Given the description of an element on the screen output the (x, y) to click on. 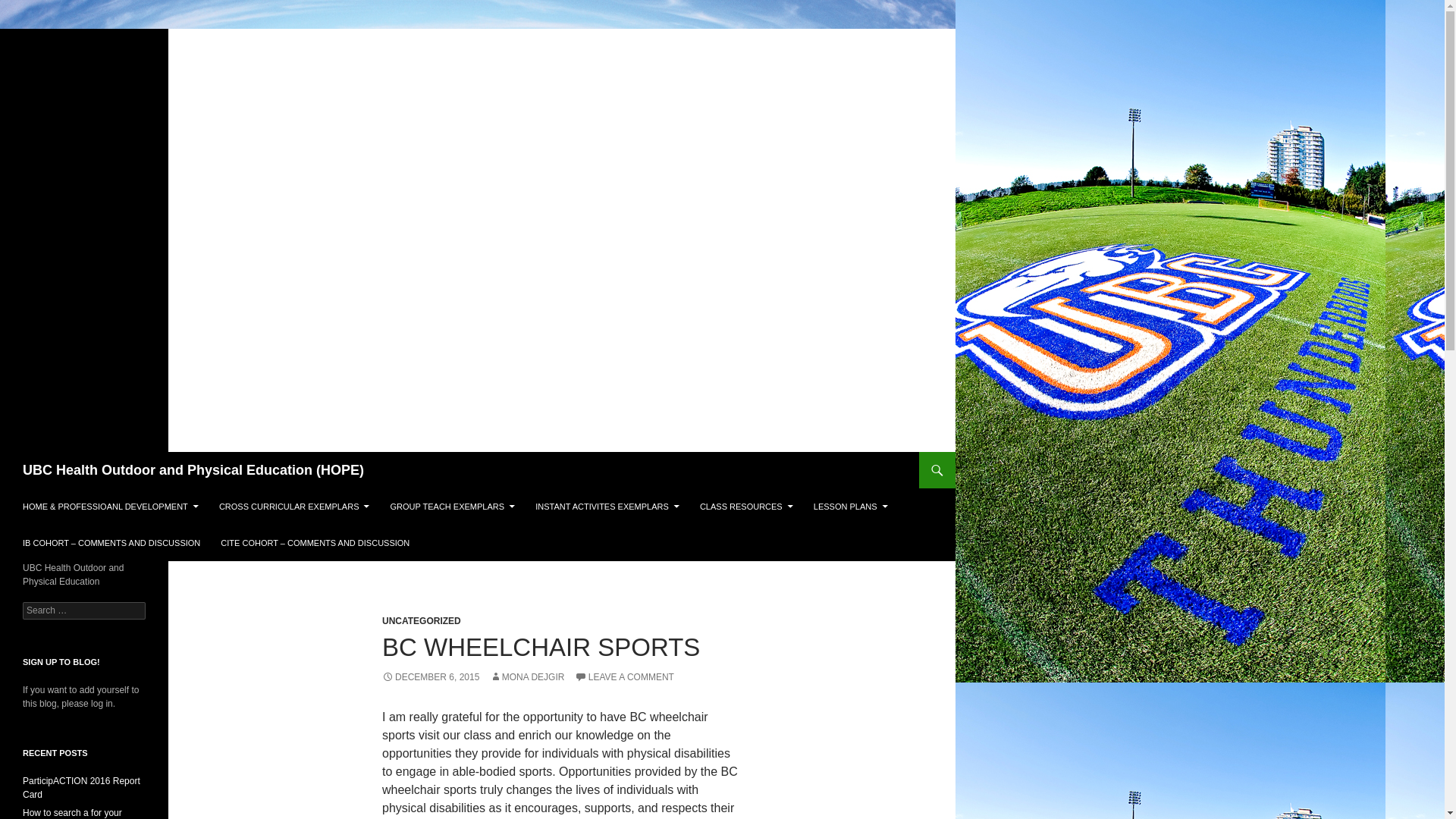
INSTANT ACTIVITES EXEMPLARS (606, 506)
LESSON PLANS (850, 506)
CROSS CURRICULAR EXEMPLARS (293, 506)
UNCATEGORIZED (421, 620)
MONA DEJGIR (526, 676)
DECEMBER 6, 2015 (430, 676)
CLASS RESOURCES (746, 506)
GROUP TEACH EXEMPLARS (452, 506)
